Given the description of an element on the screen output the (x, y) to click on. 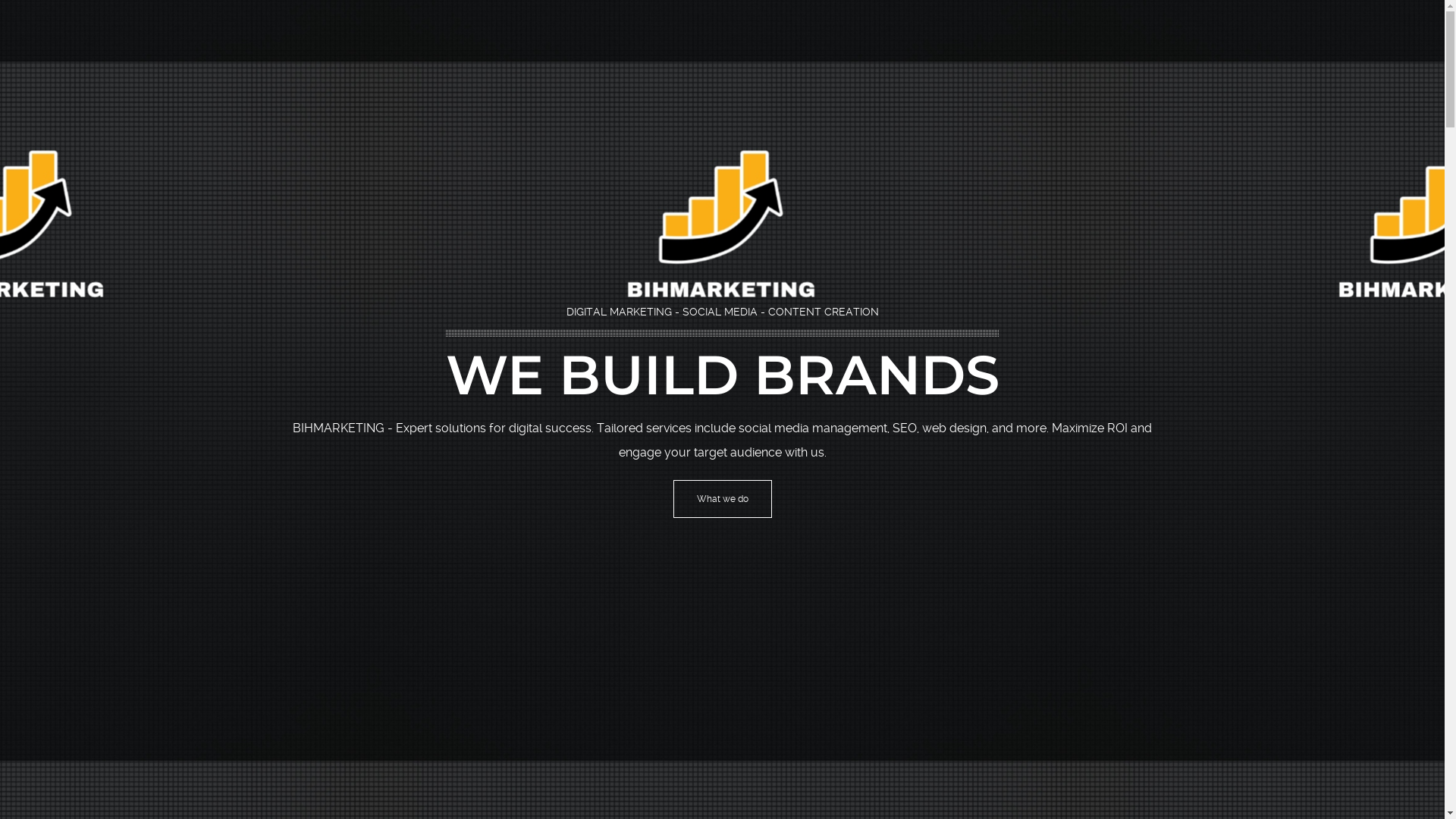
What we do Element type: text (722, 498)
